Given the description of an element on the screen output the (x, y) to click on. 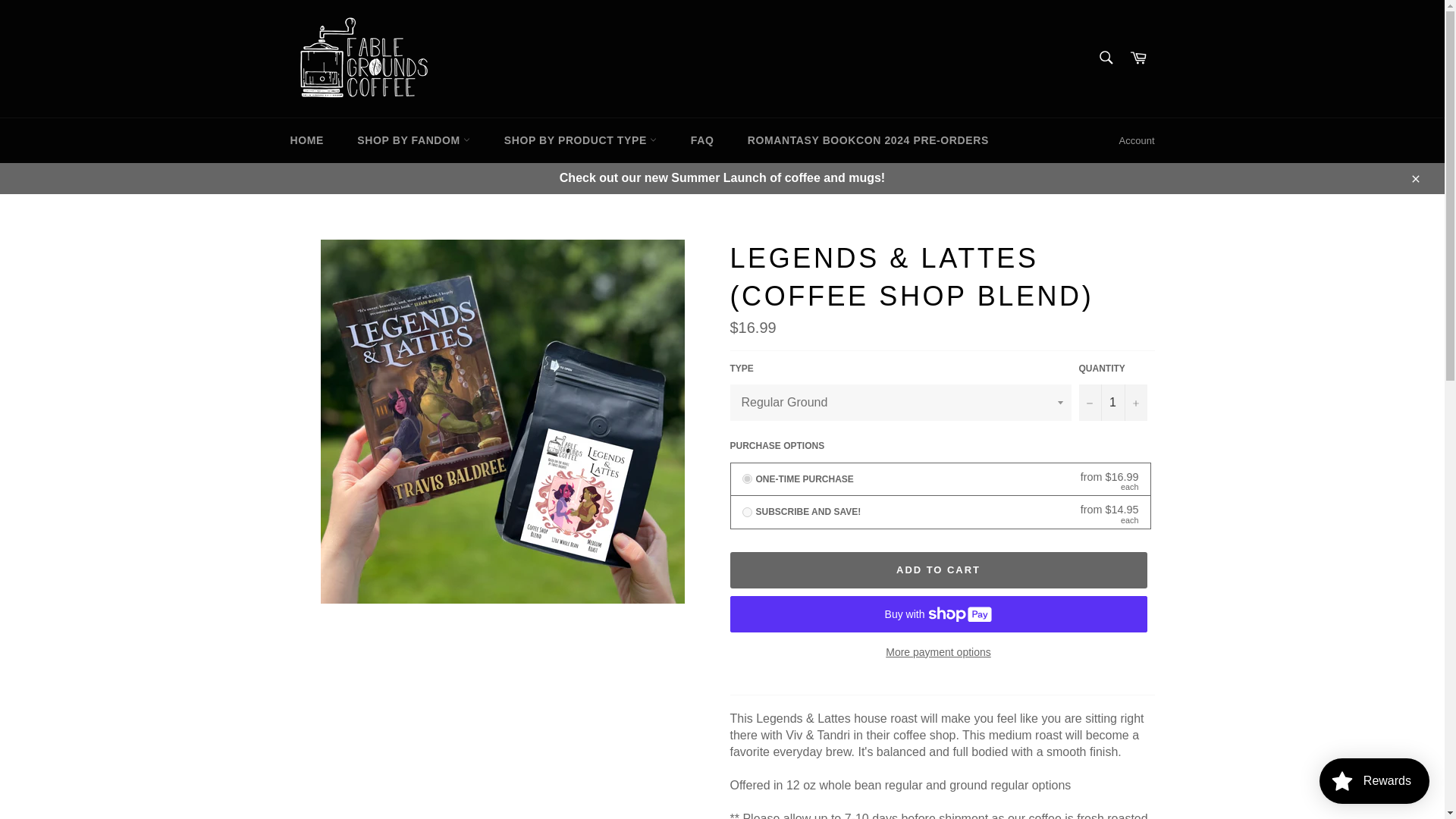
Search (1104, 57)
Cart (1138, 58)
1 (1112, 402)
d5eb486faffa9674d836235d7ff1e3be52803a3f (746, 511)
